Given the description of an element on the screen output the (x, y) to click on. 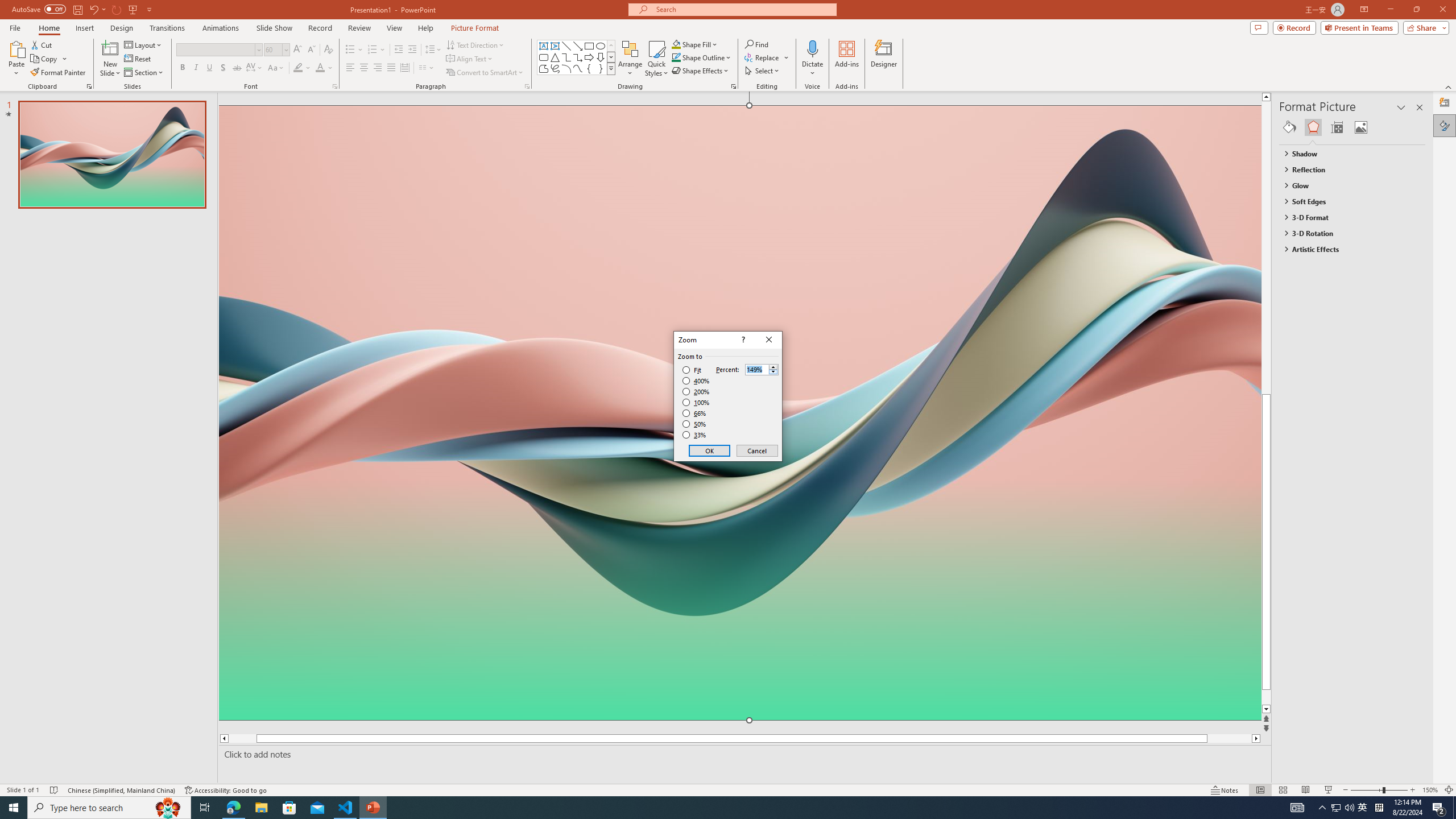
200% (696, 391)
33% (694, 434)
